Given the description of an element on the screen output the (x, y) to click on. 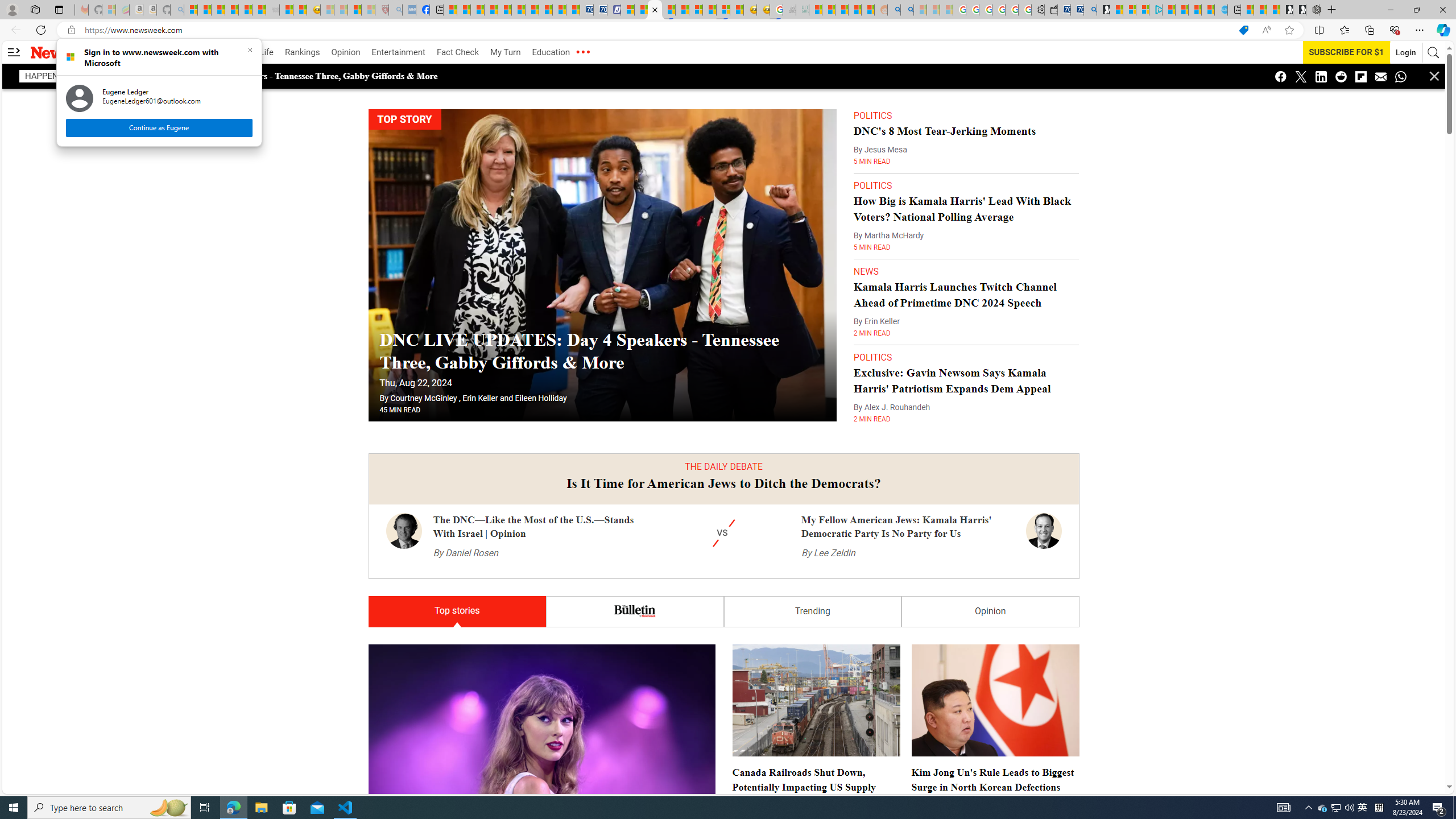
DNC's 8 Most Tear-Jerking Moments (944, 130)
My Turn (505, 52)
Trending (812, 611)
The Weather Channel - MSN (218, 9)
Class: icon-linkedin (1321, 75)
